Given the description of an element on the screen output the (x, y) to click on. 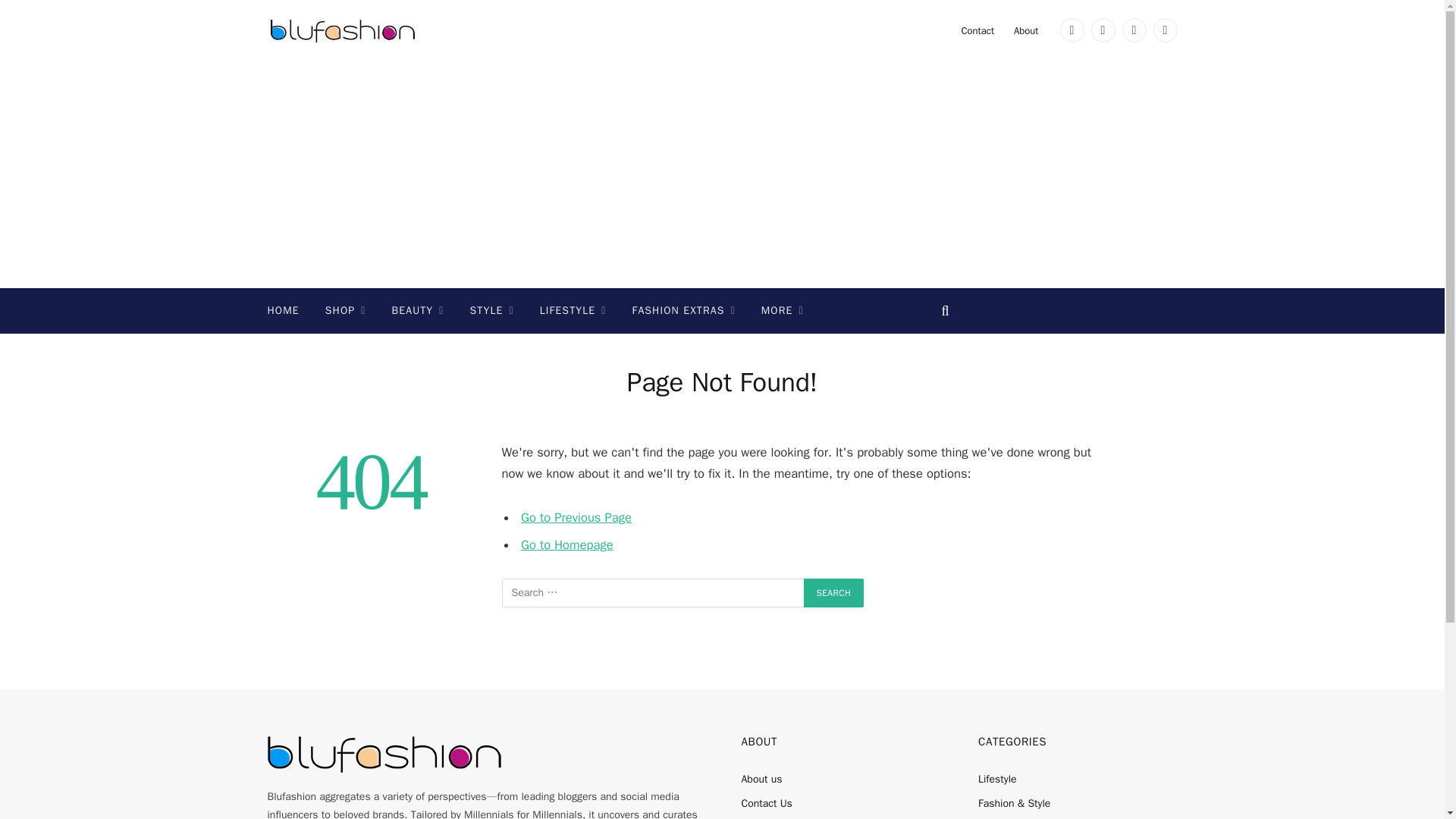
Search (833, 592)
Search (833, 592)
Blufashion.com (342, 30)
